Given the description of an element on the screen output the (x, y) to click on. 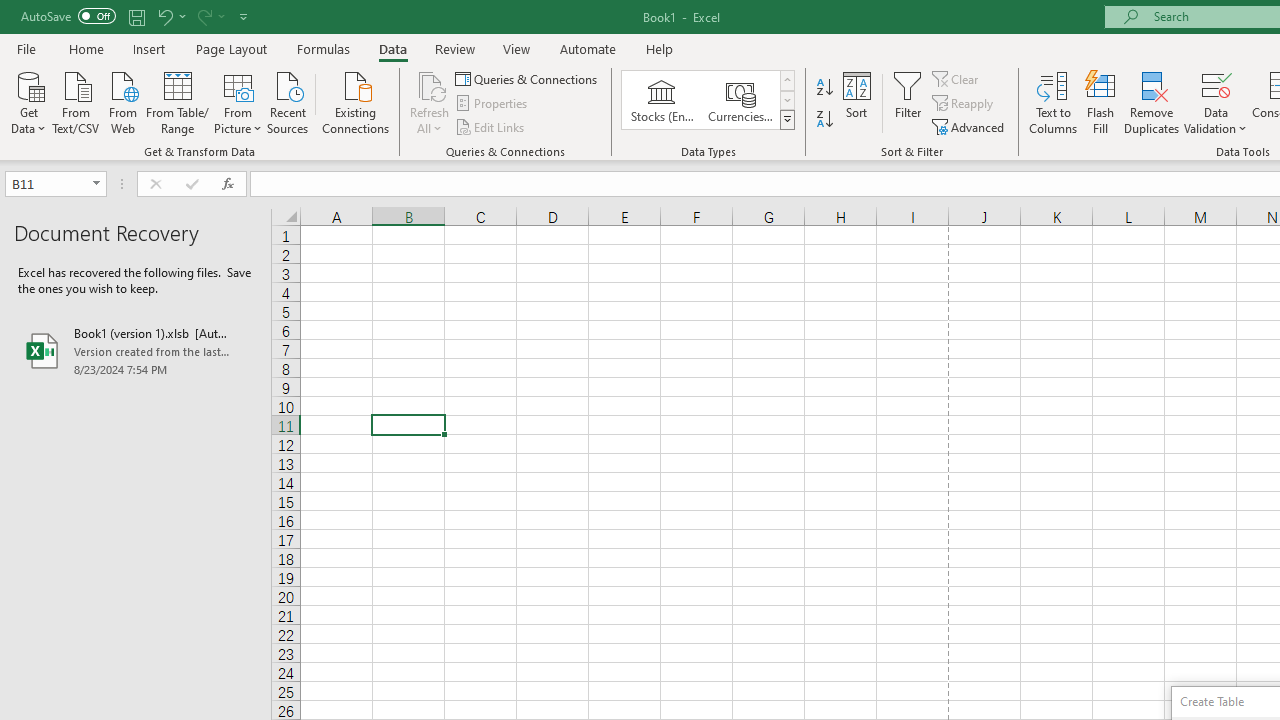
Queries & Connections (527, 78)
Text to Columns... (1053, 102)
From Table/Range (177, 101)
Filter (908, 102)
Properties (492, 103)
Stocks (English) (662, 100)
Reapply (964, 103)
Currencies (English) (740, 100)
